Given the description of an element on the screen output the (x, y) to click on. 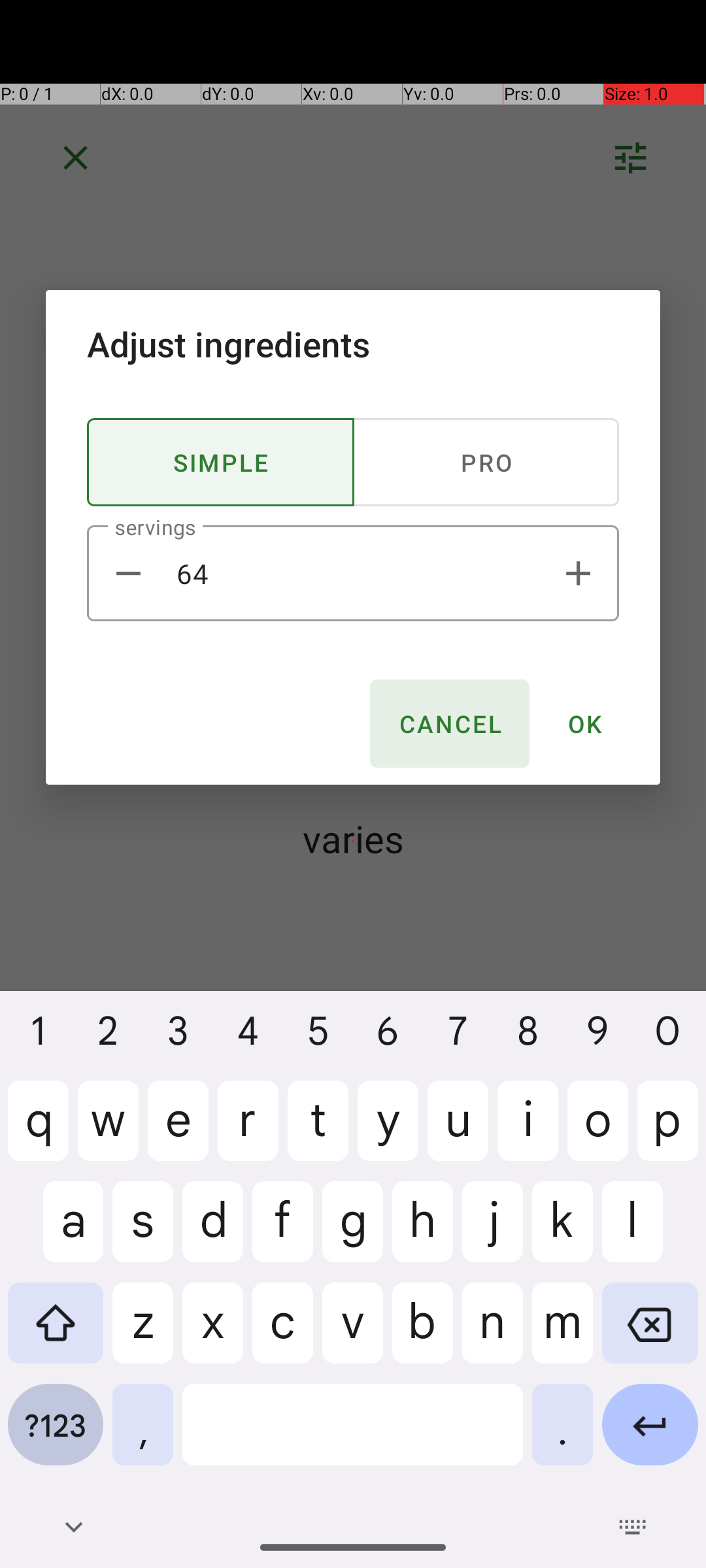
64 Element type: android.widget.EditText (352, 573)
